Given the description of an element on the screen output the (x, y) to click on. 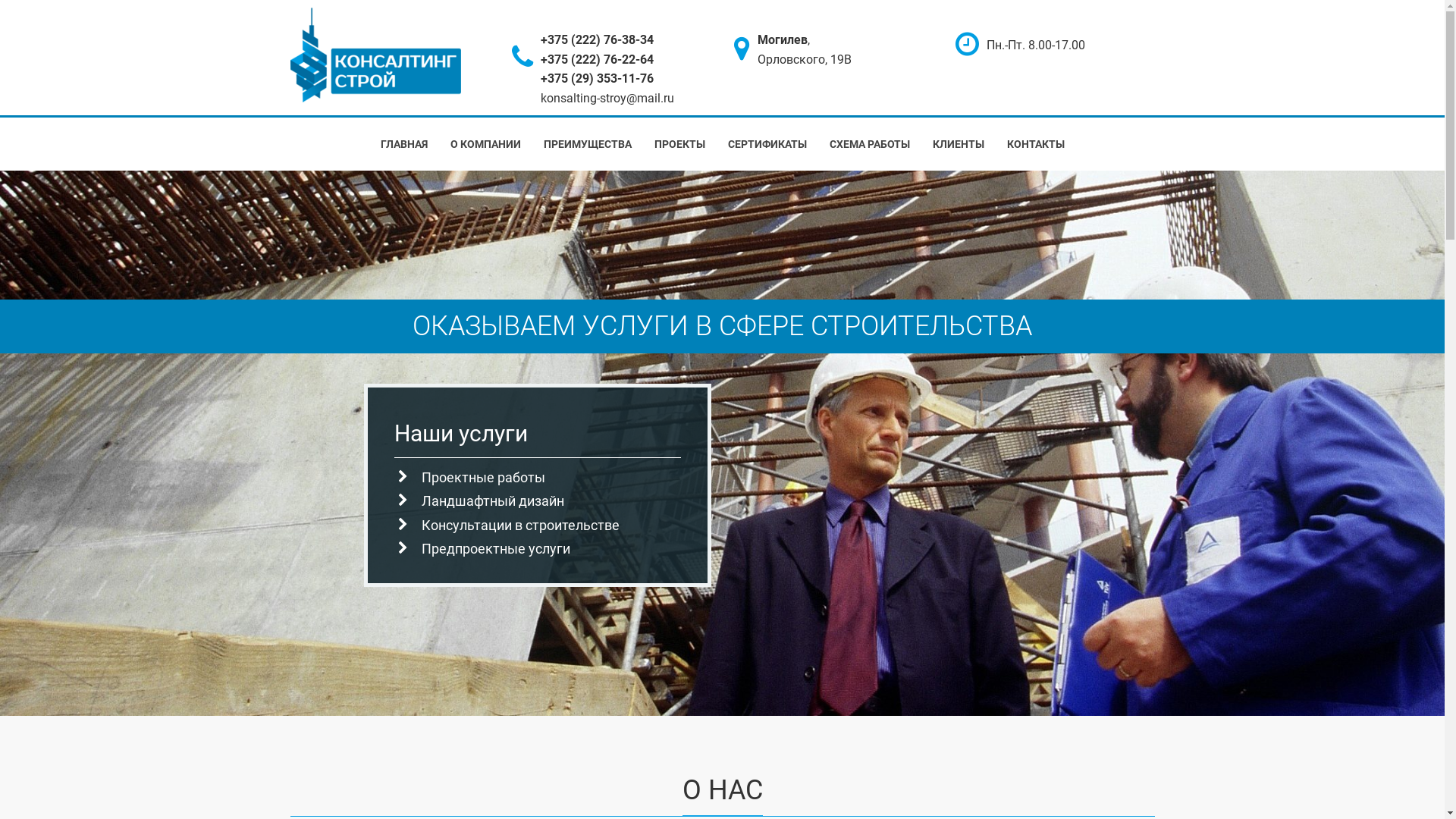
+375 (29) 353-11-76 Element type: text (596, 78)
konsalting-stroy@mail.ru Element type: text (607, 98)
+375 (222) 76-22-64 Element type: text (596, 59)
+375 (222) 76-38-34 Element type: text (596, 39)
